Given the description of an element on the screen output the (x, y) to click on. 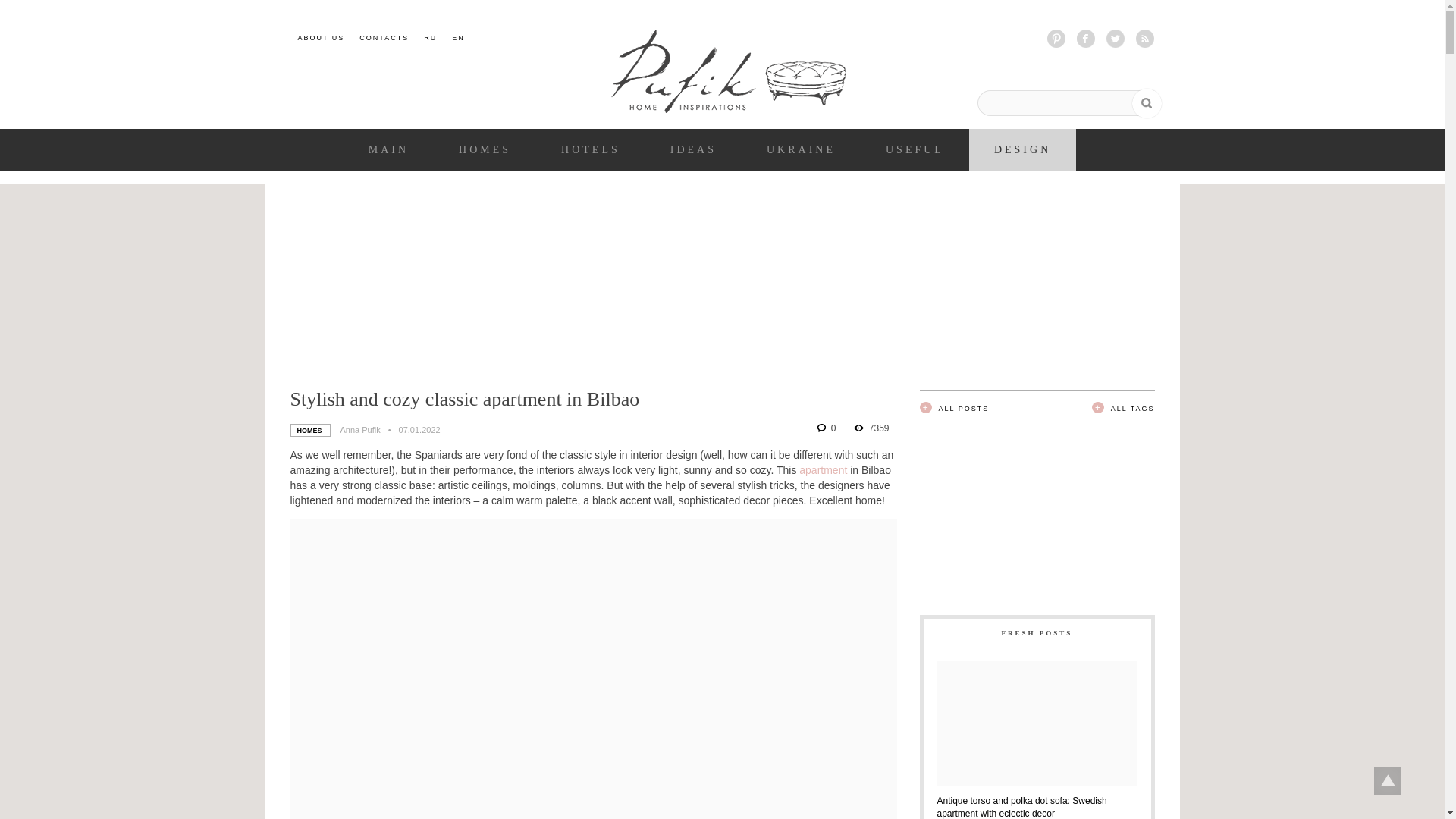
CONTACTS (384, 37)
ABOUT US (320, 37)
HOTELS (590, 149)
USEFUL (914, 149)
HOMES (484, 149)
UKRAINE (801, 149)
apartment (823, 469)
RU (429, 37)
